Given the description of an element on the screen output the (x, y) to click on. 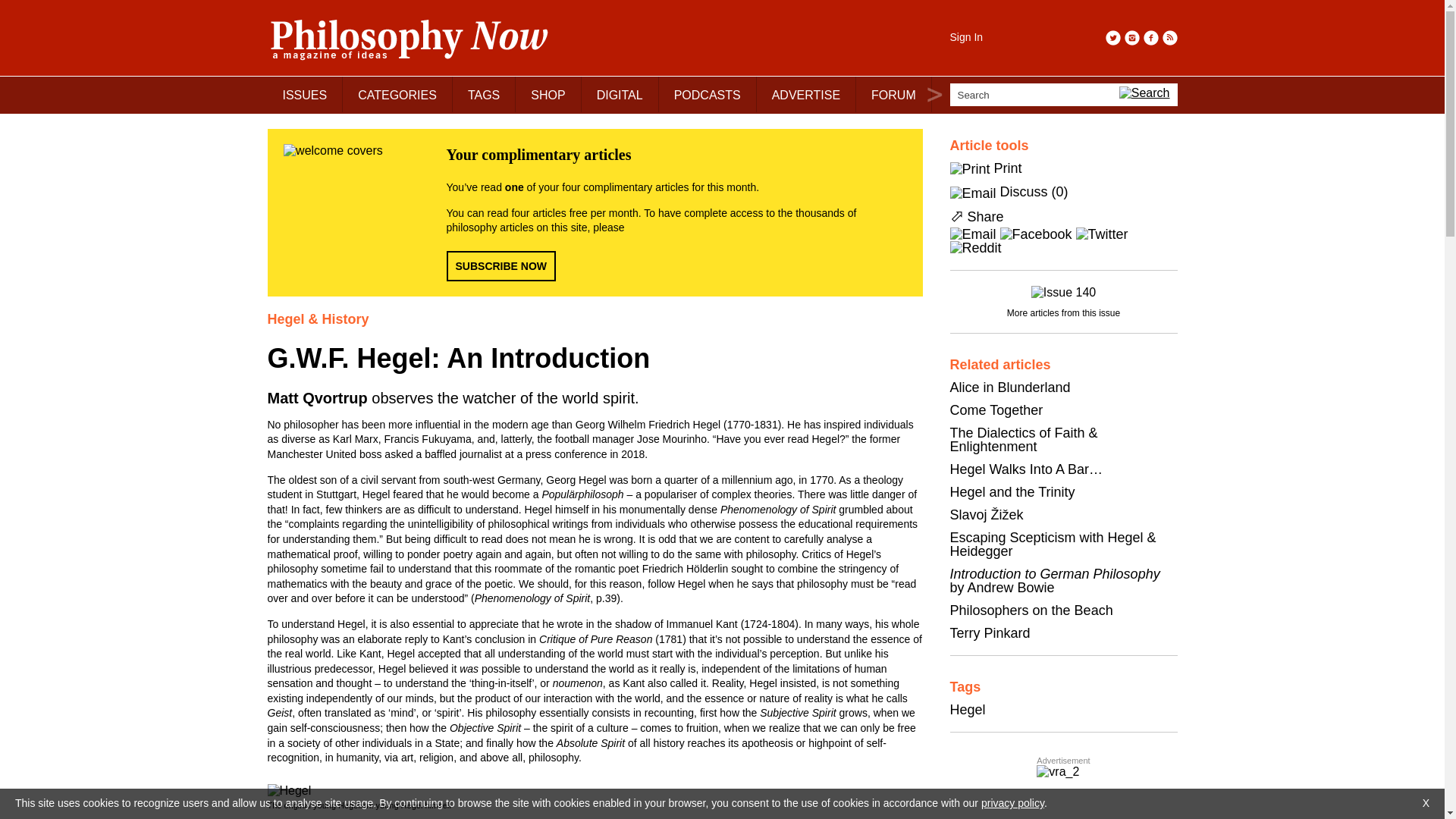
Discuss (1024, 191)
Instagram (1131, 37)
ADVERTISE (806, 94)
SHOP (547, 94)
Facebook (1150, 37)
Sign In (965, 37)
DIGITAL (619, 94)
Hegel and the Trinity (1011, 491)
Introduction to German Philosophy by Andrew Bowie (1053, 579)
FORUM (893, 94)
